Given the description of an element on the screen output the (x, y) to click on. 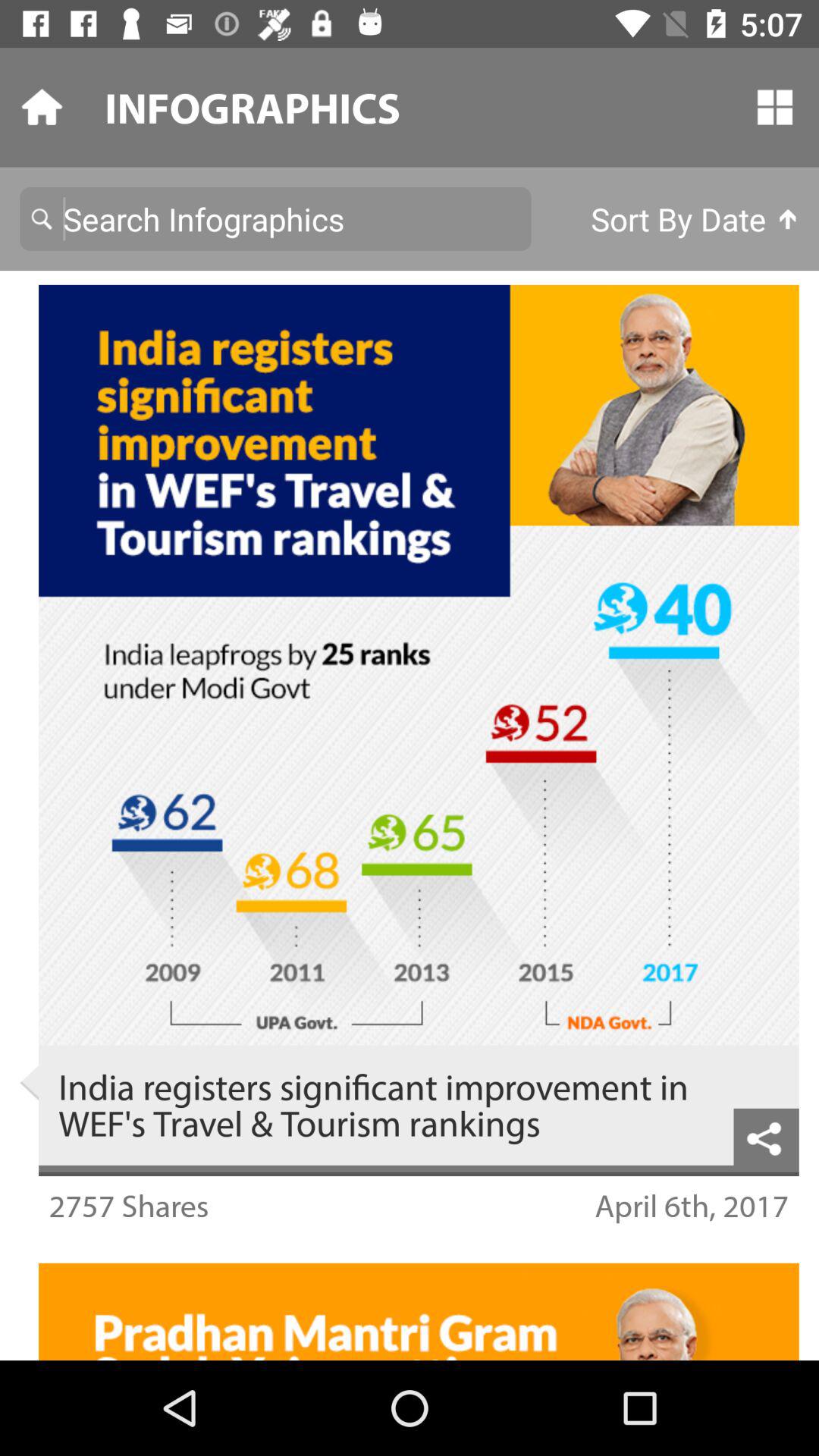
swipe until april 6th, 2017 (691, 1205)
